Given the description of an element on the screen output the (x, y) to click on. 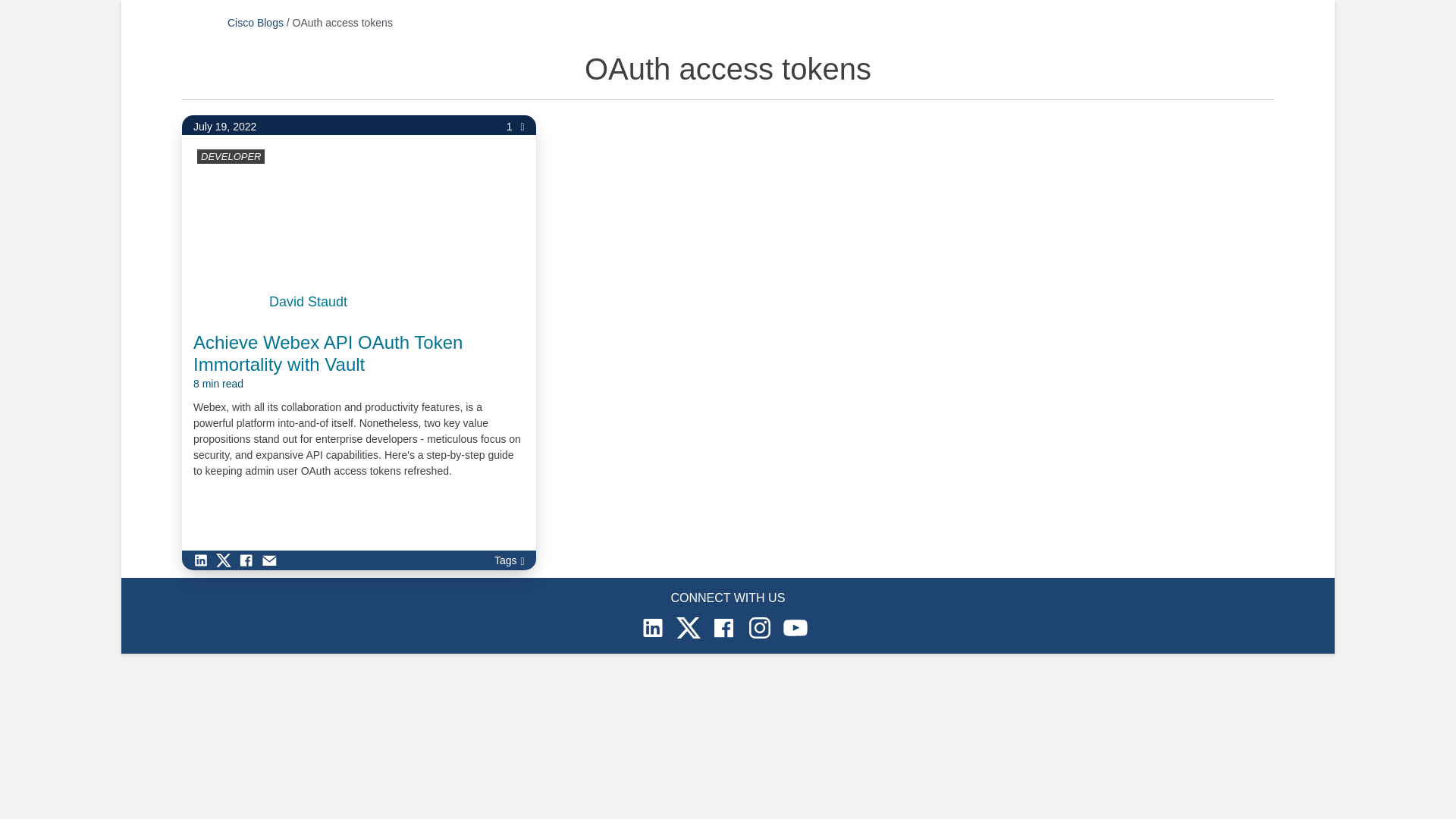
Posts by David Staudt (308, 302)
David Staudt (308, 302)
Cisco Blogs (255, 22)
Achieve Webex API OAuth Token Immortality with Vault (358, 361)
1 (515, 126)
DEVELOPER (230, 156)
